Given the description of an element on the screen output the (x, y) to click on. 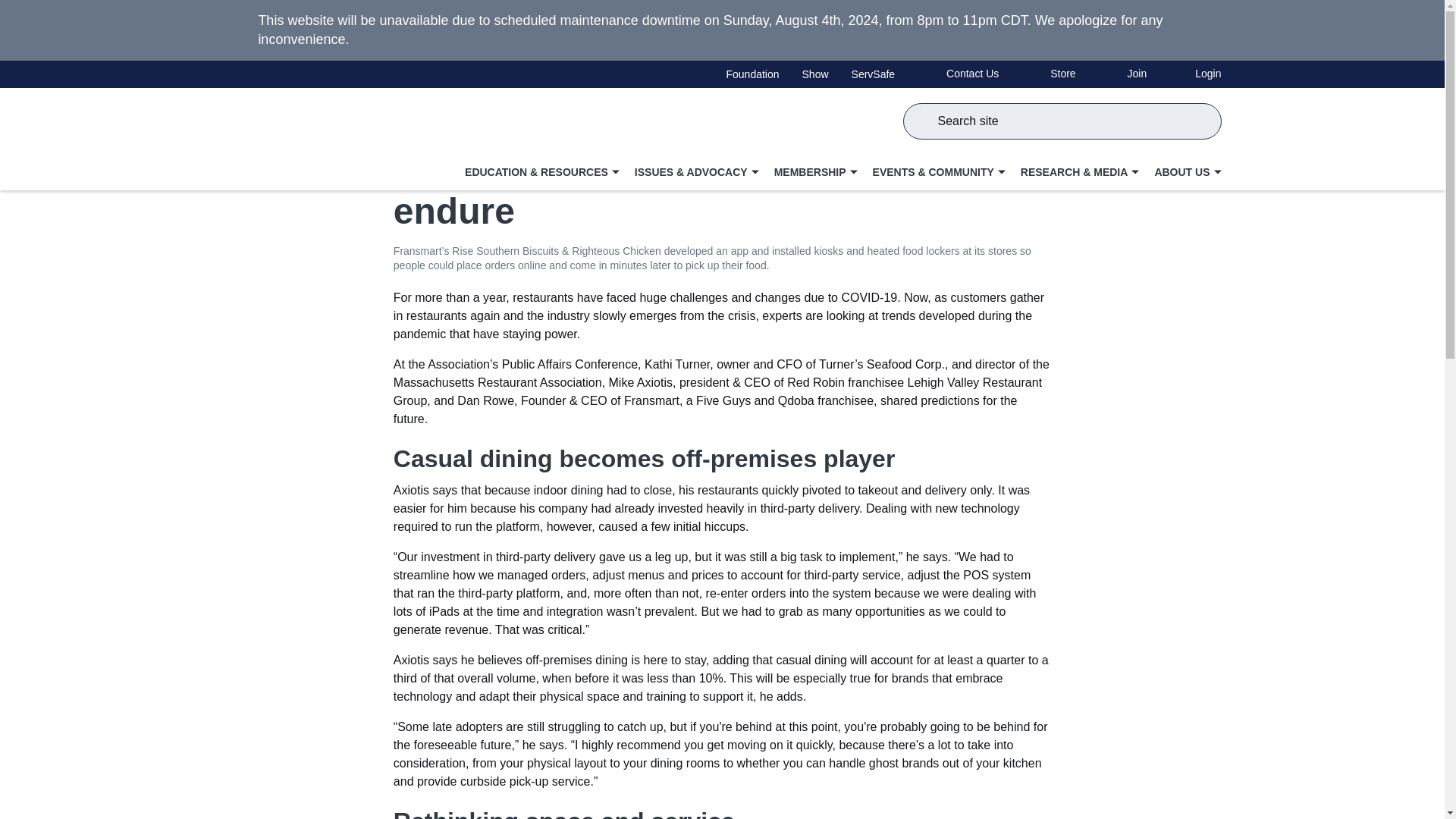
Join (1123, 73)
Close Site Alert (1202, 30)
Show (815, 73)
Foundation (751, 73)
National Restaurant Association (309, 138)
Contact Us (1206, 30)
Submit search (957, 73)
Store (922, 120)
Login (1048, 73)
ServSafe (1195, 73)
